Given the description of an element on the screen output the (x, y) to click on. 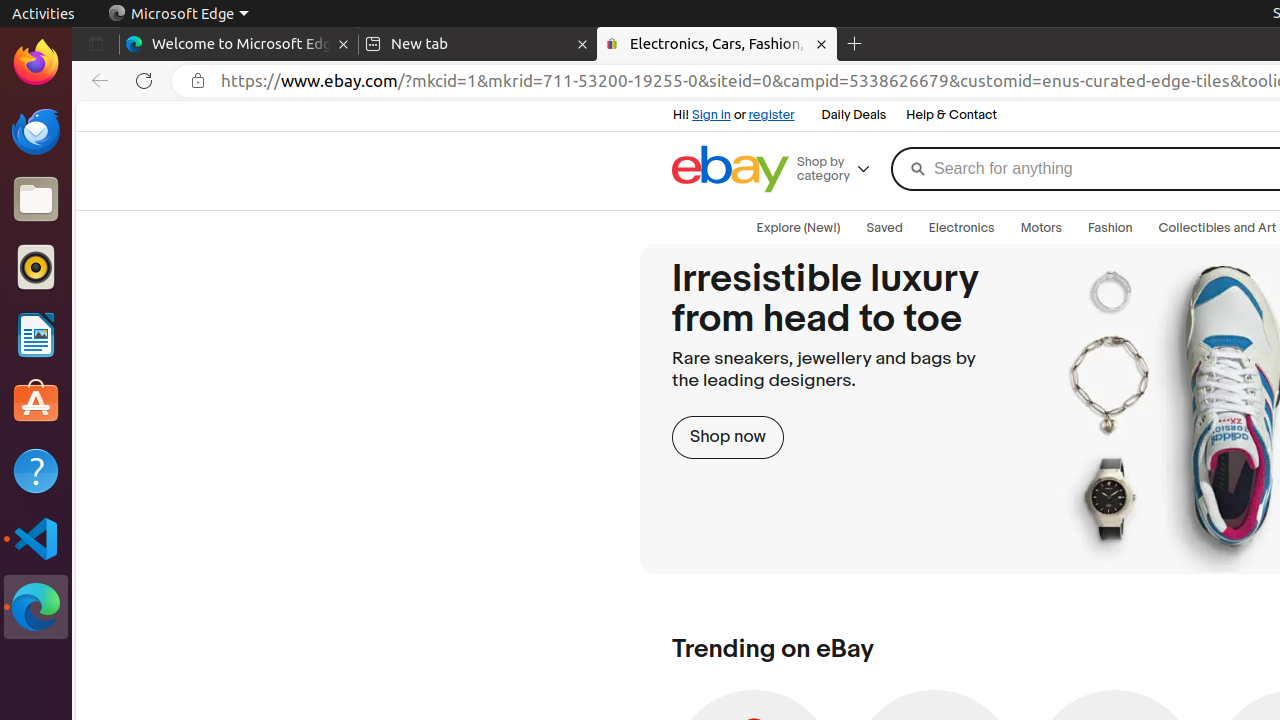
Explore (New!) Element type: link (798, 228)
Shop by category Element type: push-button (841, 169)
Electronics Element type: link (961, 228)
View site information Element type: push-button (198, 81)
Refresh Element type: push-button (144, 81)
